Given the description of an element on the screen output the (x, y) to click on. 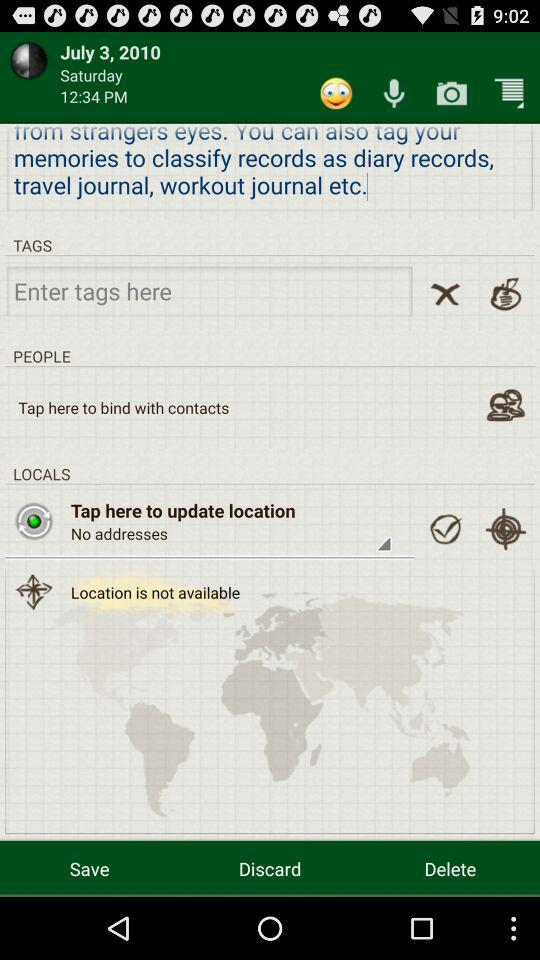
find current location (505, 529)
